Given the description of an element on the screen output the (x, y) to click on. 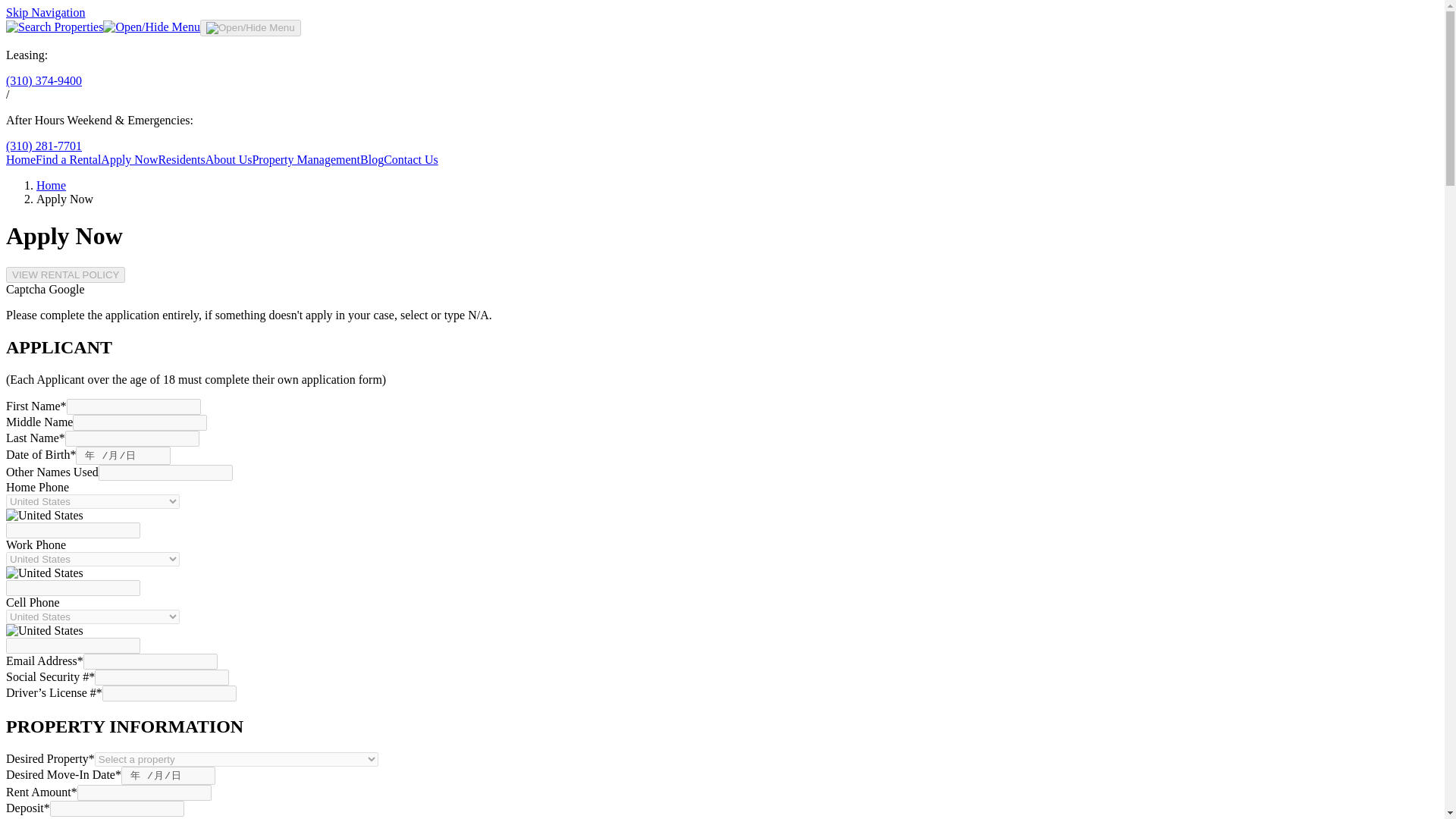
Skip Navigation (44, 11)
About Us (228, 159)
Residents (181, 159)
Blog (371, 159)
Home (50, 185)
Find a Rental (67, 159)
Contact Us (411, 159)
Home (19, 159)
Apply Now (128, 159)
Property Management (305, 159)
